Given the description of an element on the screen output the (x, y) to click on. 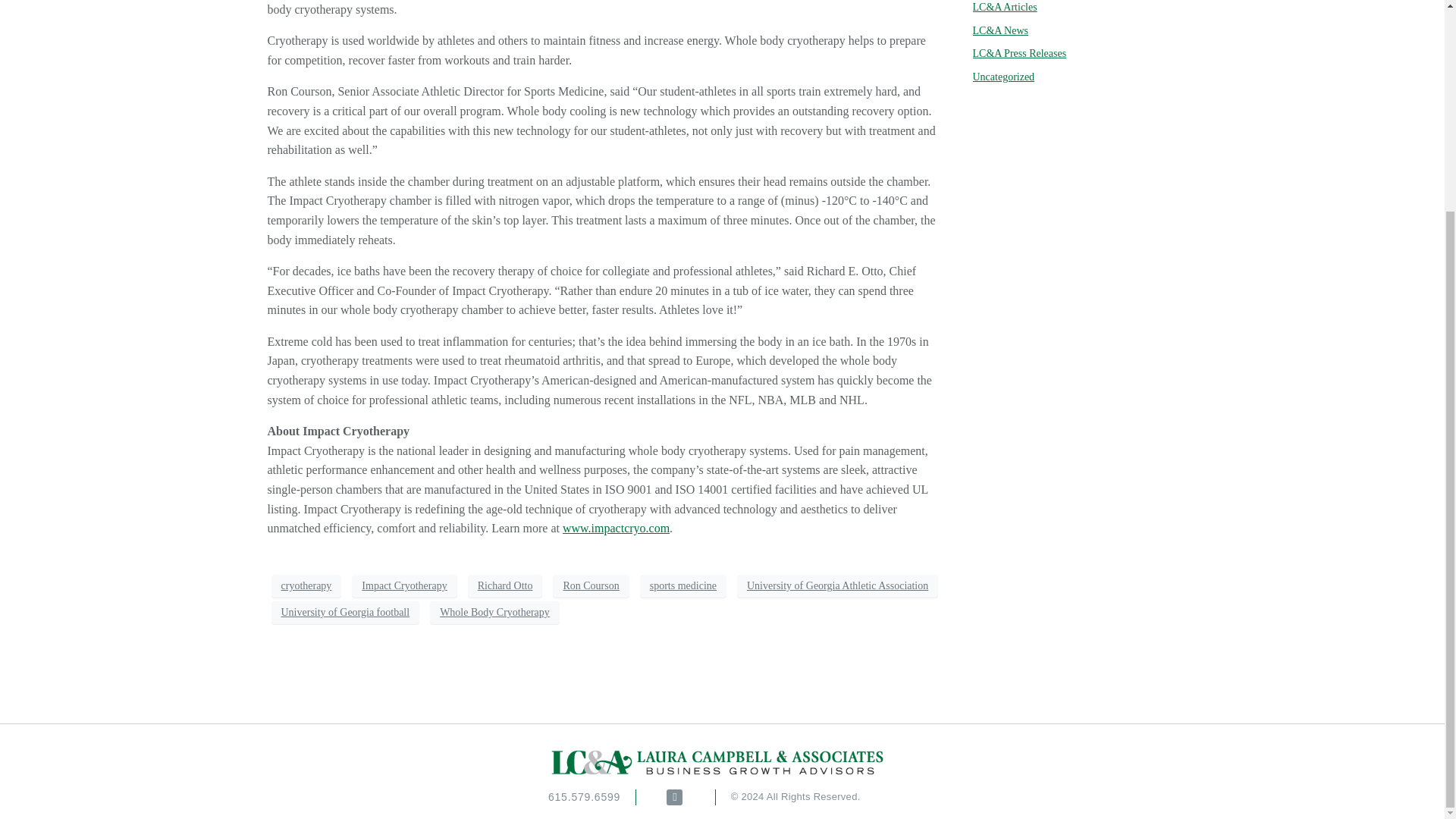
www.impactcryo.com (615, 527)
Ron Courson (590, 585)
University of Georgia Athletic Association (836, 585)
cryotherapy (306, 585)
Impact Cryotherapy (404, 585)
University of Georgia football (345, 612)
Richard Otto (505, 585)
sports medicine (683, 585)
Uncategorized (1002, 76)
Whole Body Cryotherapy (494, 612)
